Given the description of an element on the screen output the (x, y) to click on. 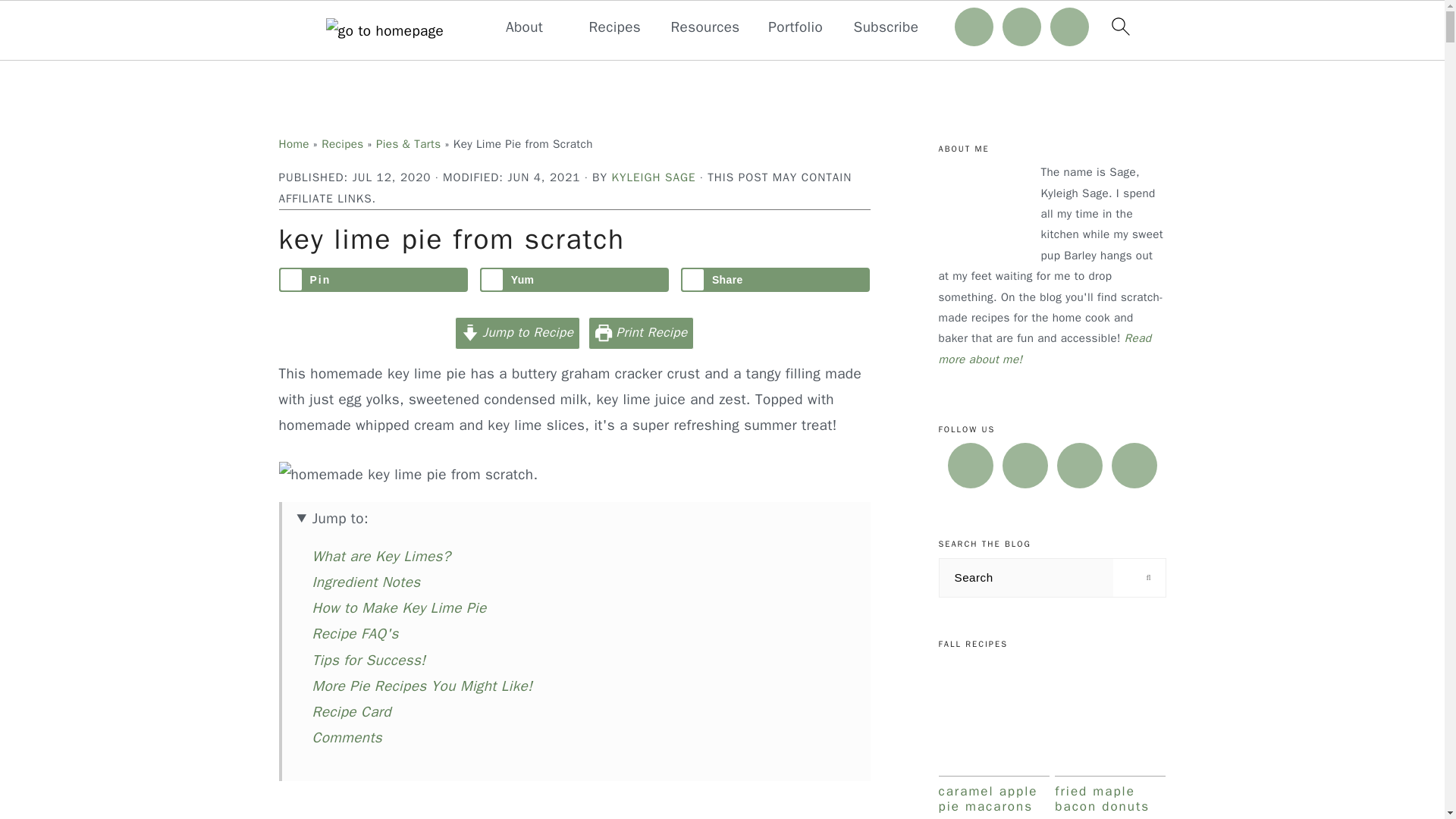
Portfolio (795, 27)
Share on Facebook (775, 279)
Resources (704, 27)
Recipes (614, 27)
Caramel Apple Pie Macarons (994, 716)
Fried Maple Bacon Donuts (1110, 716)
search icon (1119, 26)
Share on Yummly (574, 279)
About (524, 27)
Subscribe (885, 27)
